Given the description of an element on the screen output the (x, y) to click on. 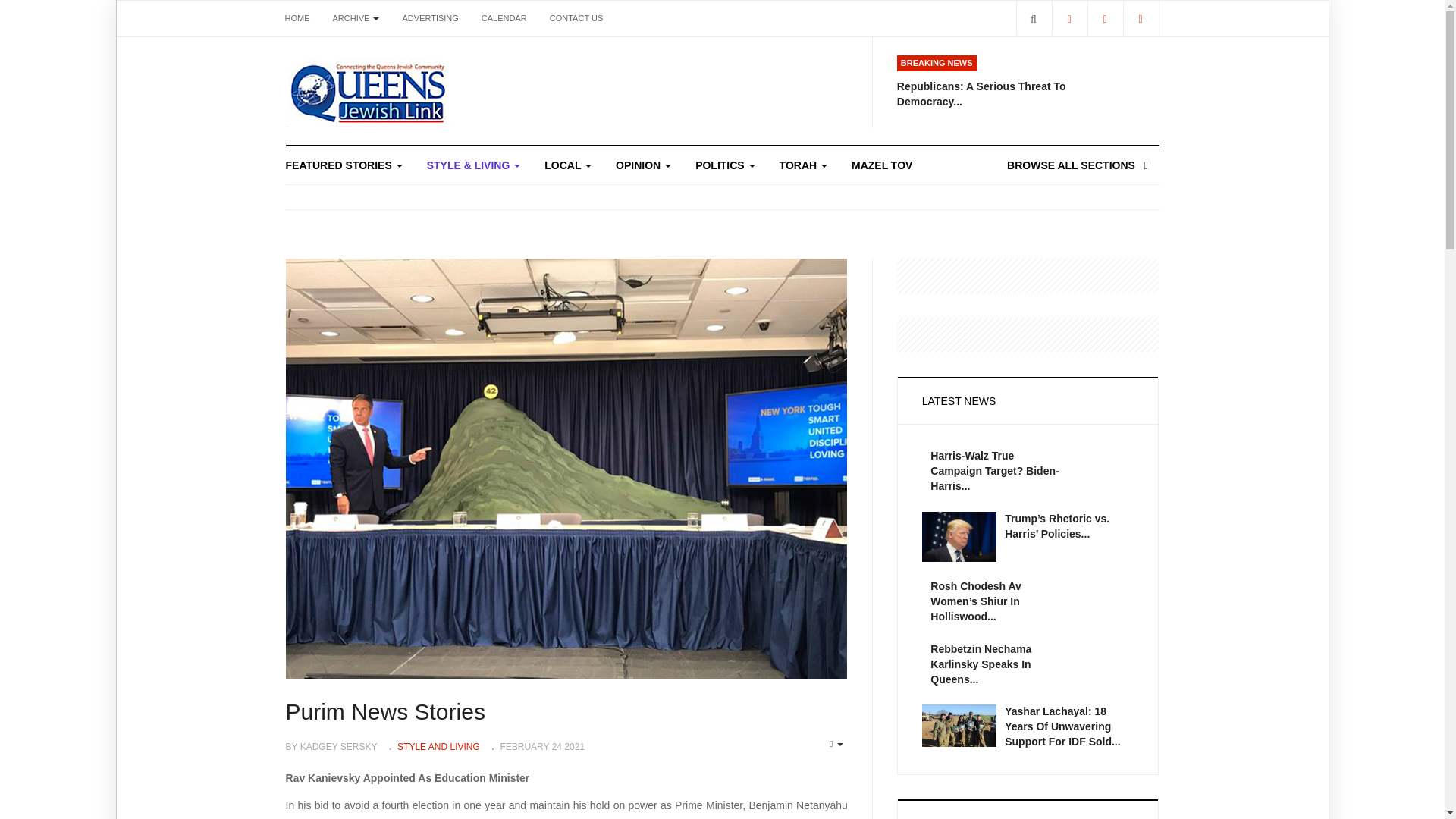
ARCHIVE (356, 18)
HOME (296, 18)
Instagram (1139, 18)
Purim News Stories (384, 711)
Facebook (1068, 18)
ADVERTISING (429, 18)
Twitter (1104, 18)
Queens Jewish Link (366, 90)
